Given the description of an element on the screen output the (x, y) to click on. 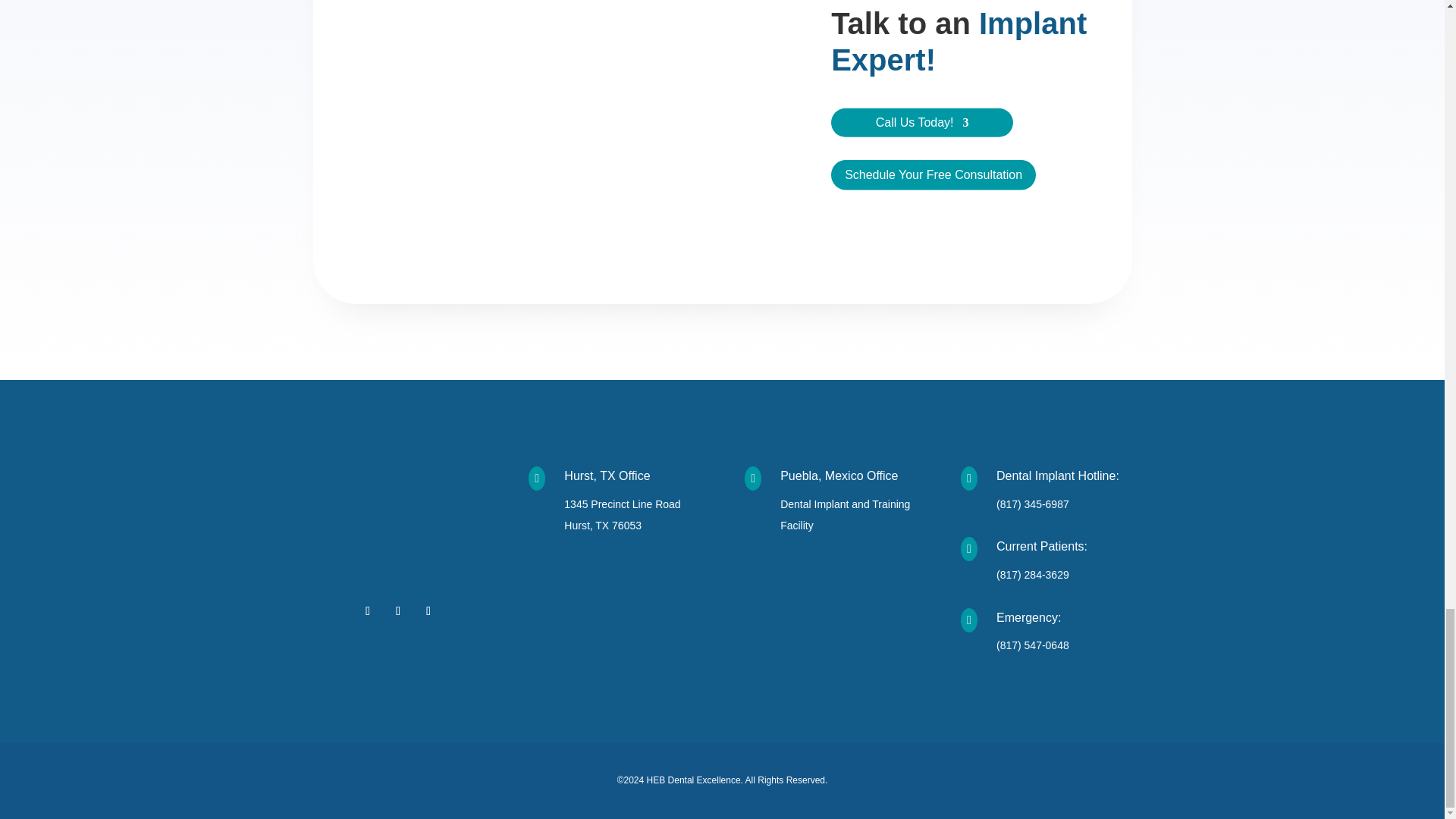
Follow on Youtube (428, 610)
HEB Dental - Service Cards (561, 137)
Schedule Your Free Consultation (933, 174)
Follow on Facebook (367, 610)
Call Us Today! (922, 125)
Follow on Instagram (397, 610)
logo-hebdental (397, 521)
